Given the description of an element on the screen output the (x, y) to click on. 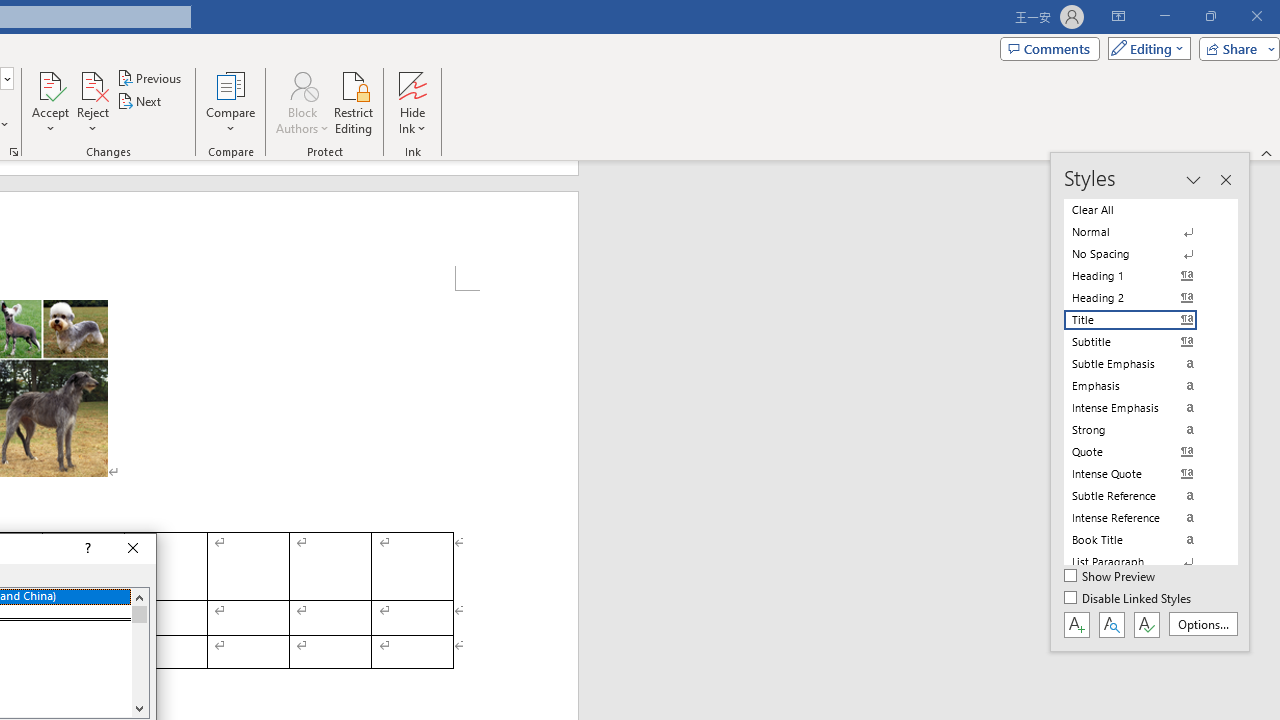
Clear All (1142, 209)
Context help (86, 548)
Disable Linked Styles (1129, 599)
Block Authors (302, 84)
Block Authors (302, 102)
